Given the description of an element on the screen output the (x, y) to click on. 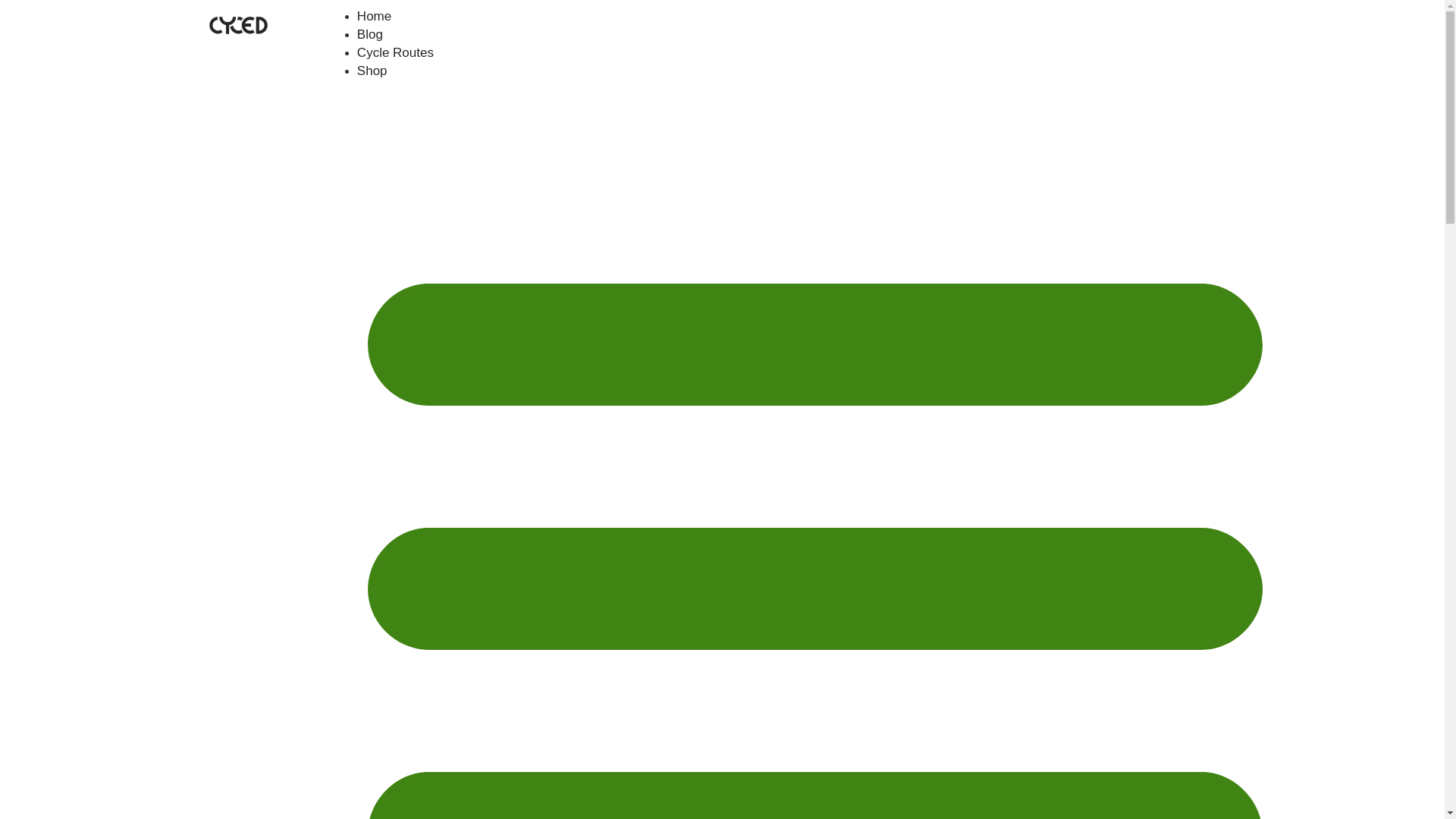
Cycle Routes Element type: text (395, 52)
Blog Element type: text (369, 34)
Shop Element type: text (372, 70)
Home Element type: text (374, 16)
